Given the description of an element on the screen output the (x, y) to click on. 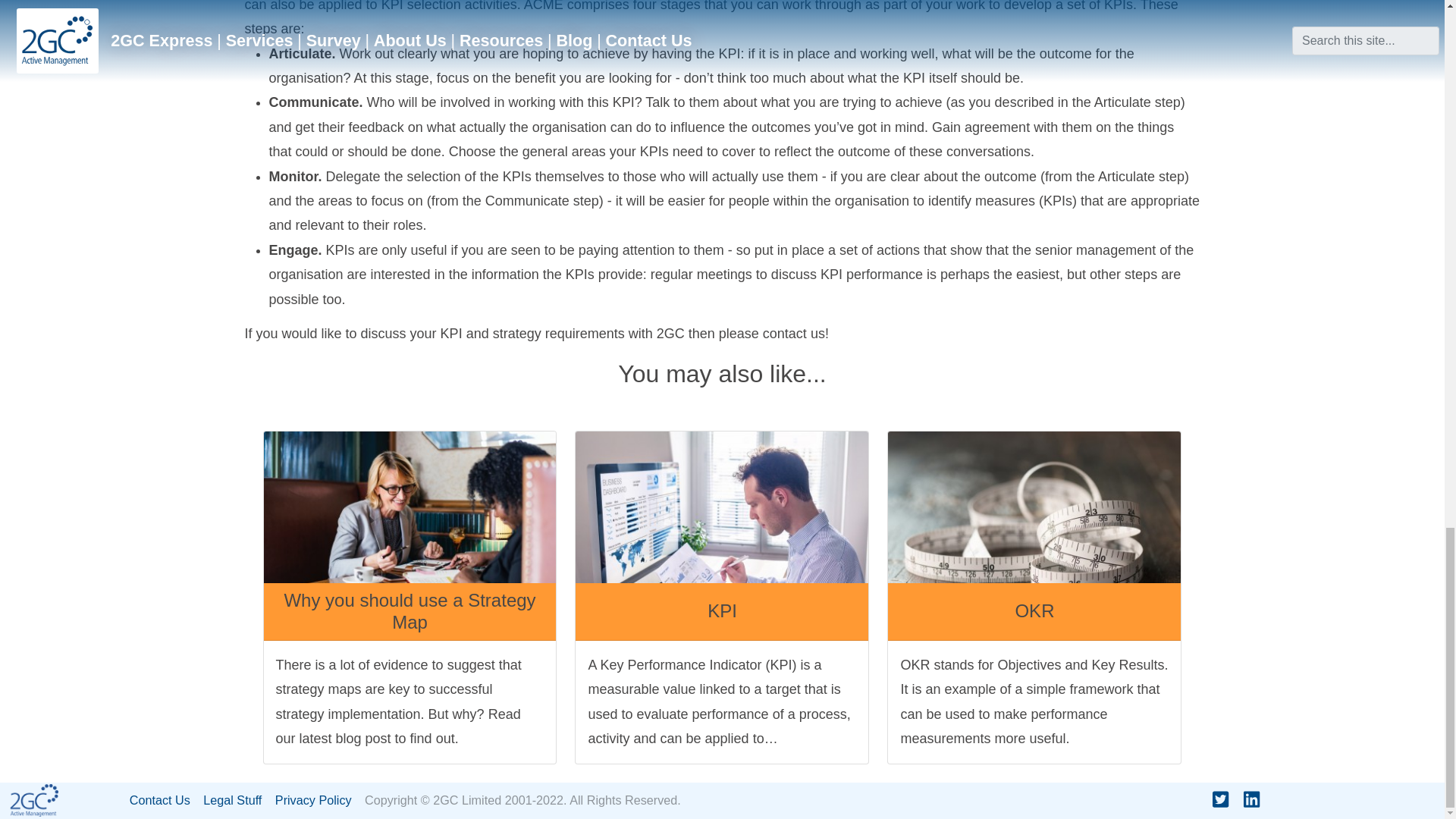
Legal Stuff (236, 800)
Contact Us (164, 800)
Privacy Policy (318, 800)
